Given the description of an element on the screen output the (x, y) to click on. 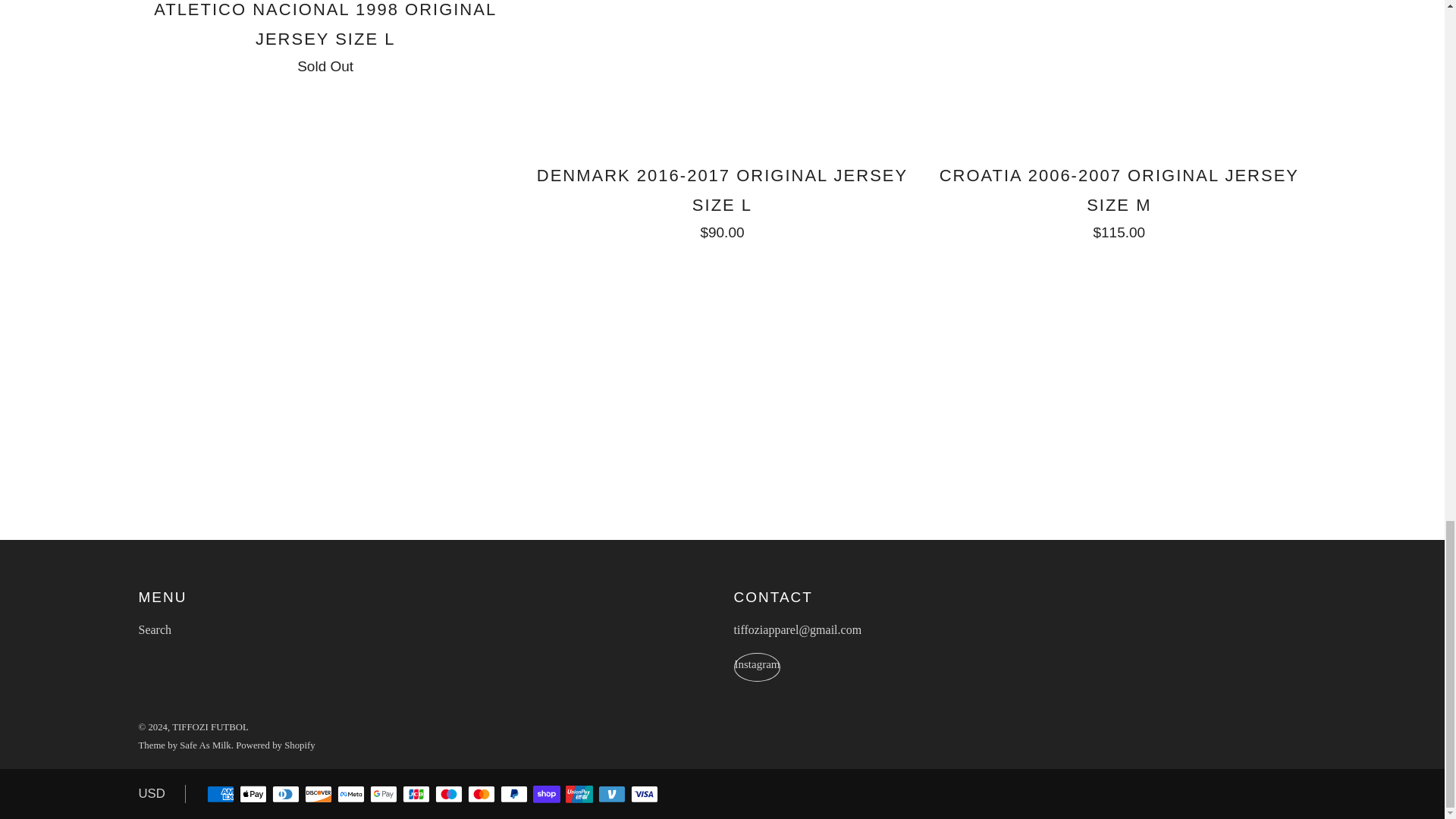
GERMANY 2014 KROOS ORIGINAL  JERSEY Size M (721, 199)
FRANCE ZIDANE 1998-1999 ORIGINAL JERSEY Size XL (325, 36)
PORTUGAL RONALDO 2014-2015  ORIGINAL JERSEY Size XL (1118, 199)
